Given the description of an element on the screen output the (x, y) to click on. 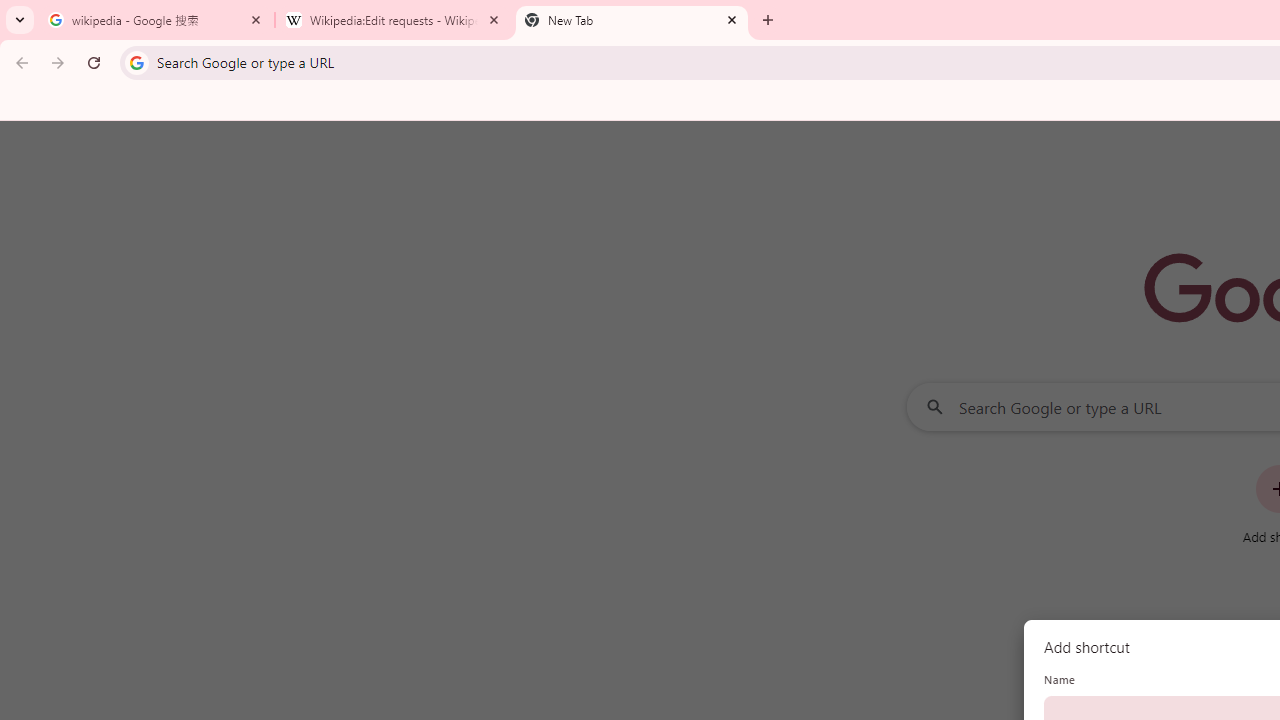
Wikipedia:Edit requests - Wikipedia (394, 20)
New Tab (632, 20)
